Given the description of an element on the screen output the (x, y) to click on. 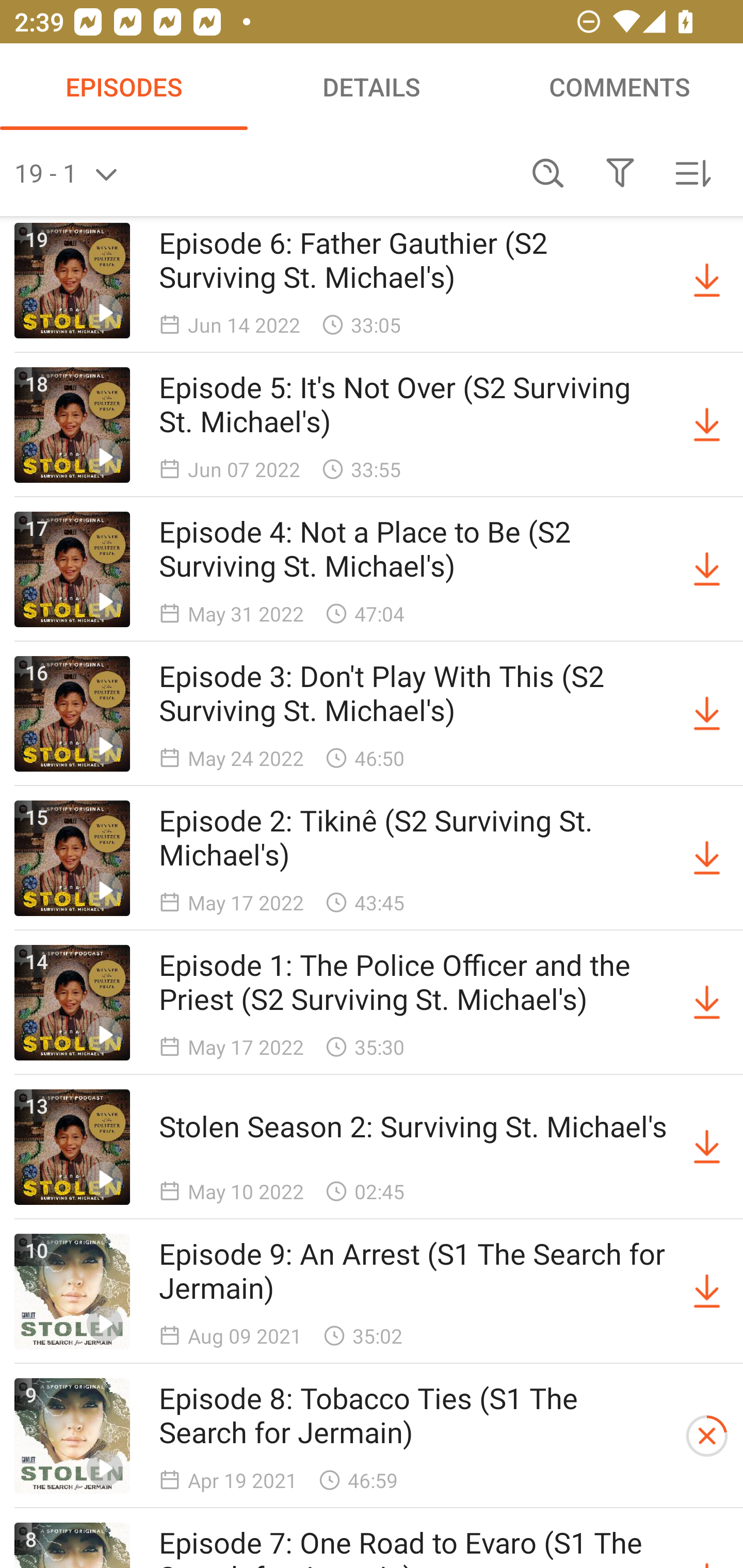
EPISODES (123, 86)
DETAILS (371, 86)
COMMENTS (619, 86)
19 - 1  (262, 173)
 Search (547, 173)
 (619, 173)
 Sorted by newest first (692, 173)
Download (706, 280)
Download (706, 424)
Download (706, 569)
Download (706, 713)
Download (706, 858)
Download (706, 1002)
Download (706, 1146)
Download (706, 1292)
Cancel Downloading (706, 1436)
